Given the description of an element on the screen output the (x, y) to click on. 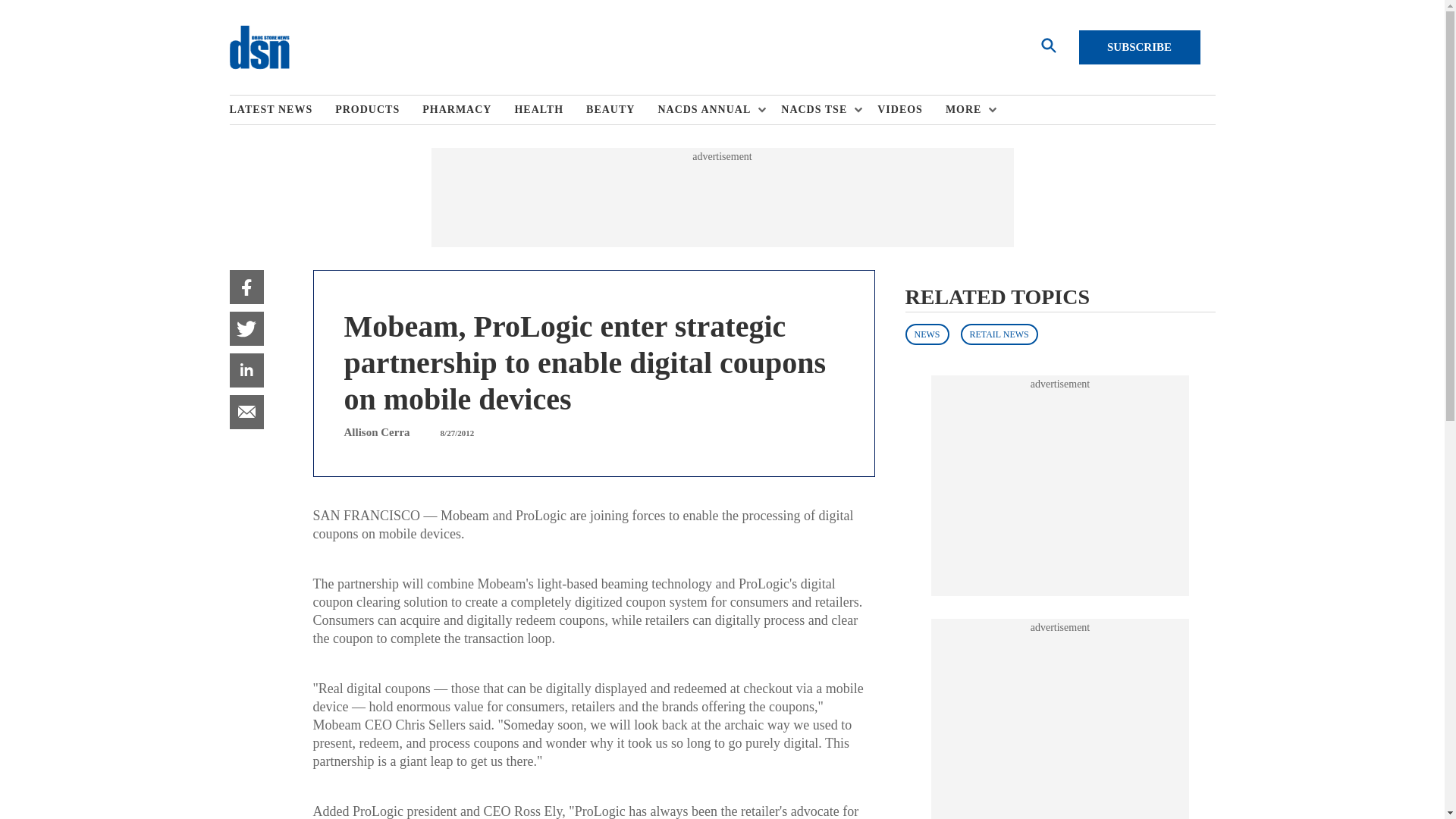
PRODUCTS (378, 109)
HEALTH (549, 109)
twitter (245, 328)
facebook (245, 286)
NACDS ANNUAL (708, 109)
3rd party ad content (1059, 726)
linkedIn (245, 369)
3rd party ad content (1059, 485)
twitter (245, 328)
LATEST NEWS (281, 109)
